Given the description of an element on the screen output the (x, y) to click on. 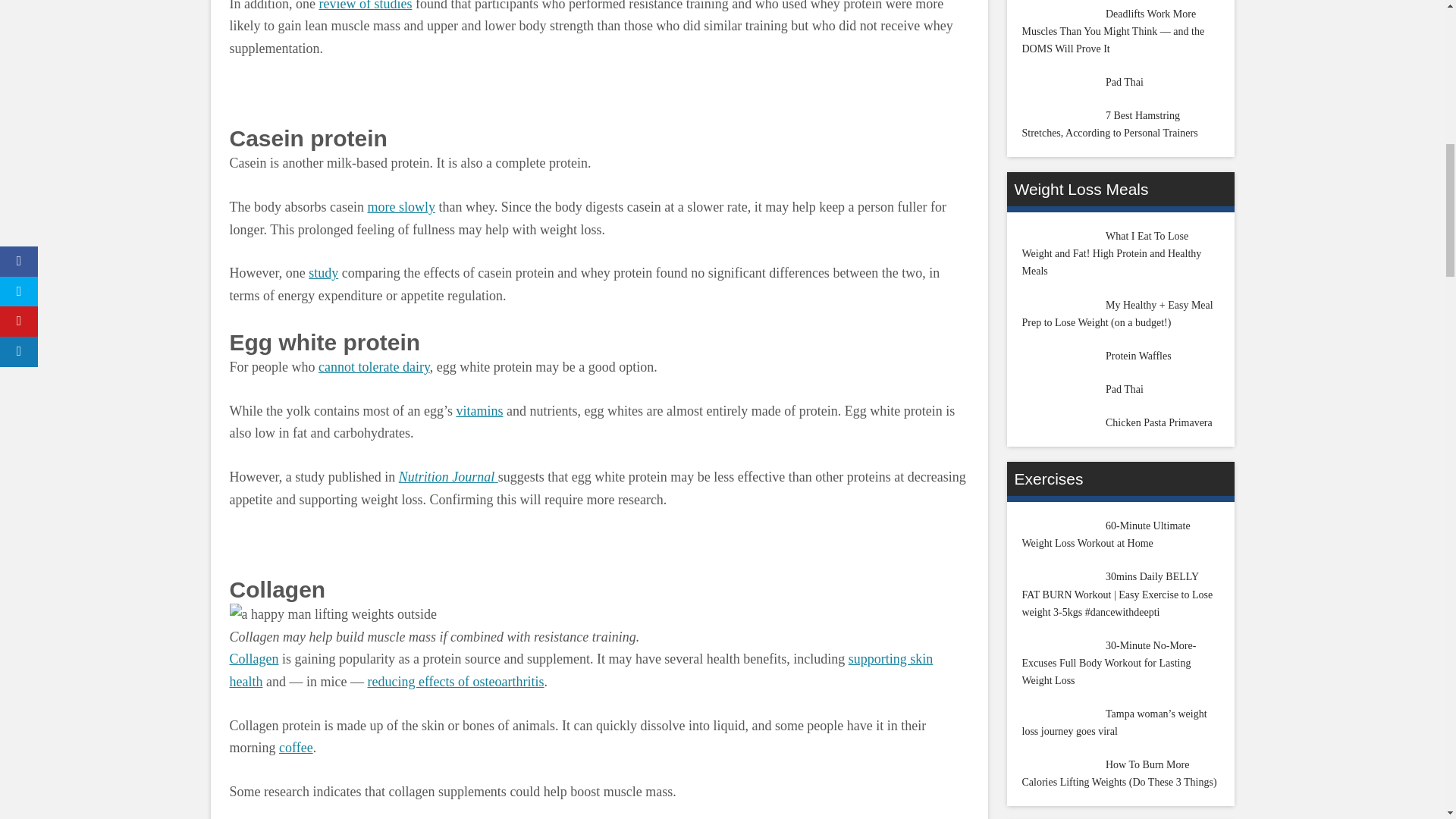
Collagen: What is it and what are its uses? (253, 658)
Health benefits and risks of drinking coffee (296, 747)
Vitamins: What are they and what do they do? (478, 410)
